Given the description of an element on the screen output the (x, y) to click on. 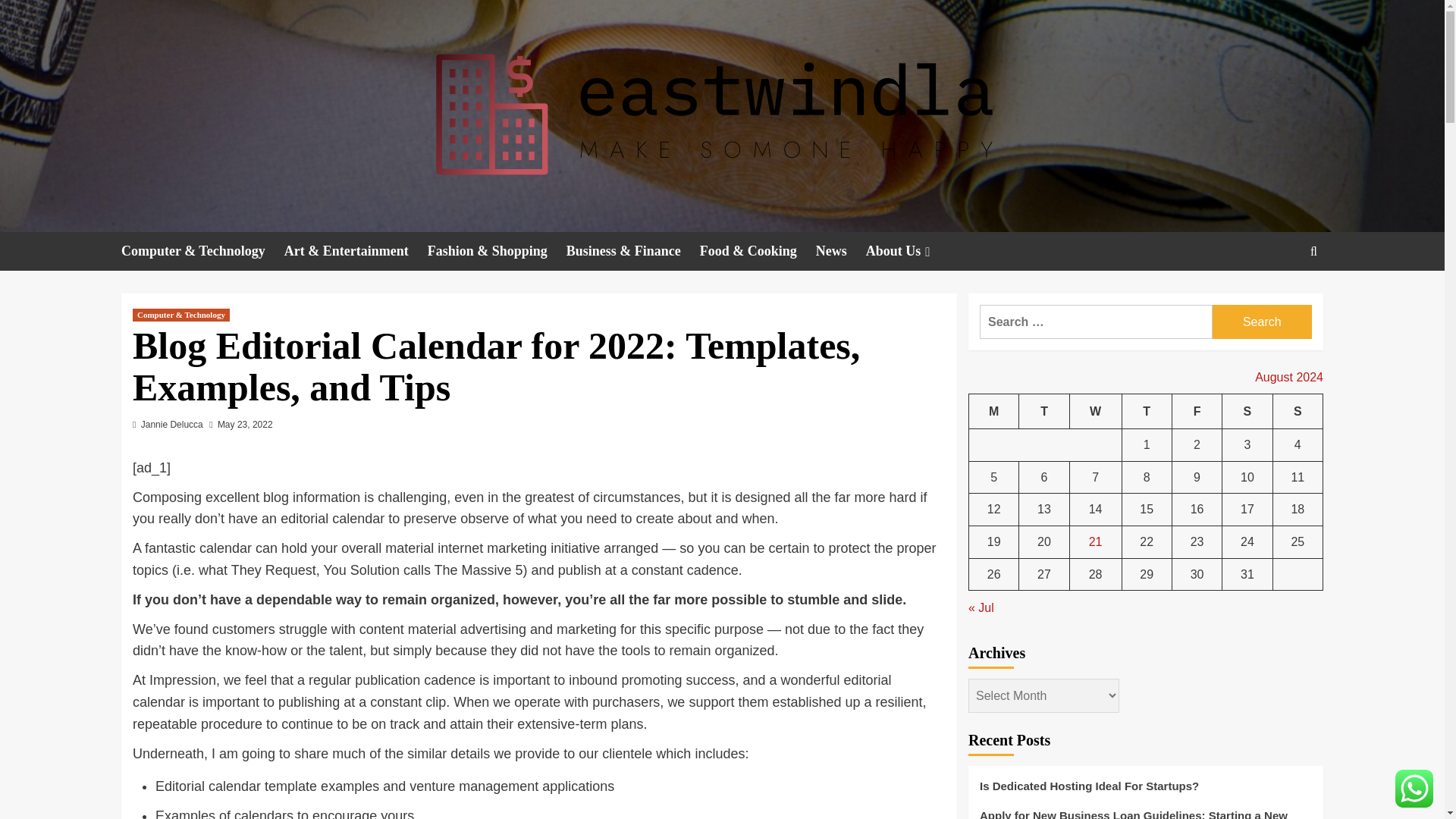
Jannie Delucca (172, 424)
Tuesday (1043, 411)
May 23, 2022 (244, 424)
News (840, 251)
Search (1278, 297)
Search (1261, 321)
Search (1261, 321)
About Us (909, 251)
Monday (994, 411)
